Given the description of an element on the screen output the (x, y) to click on. 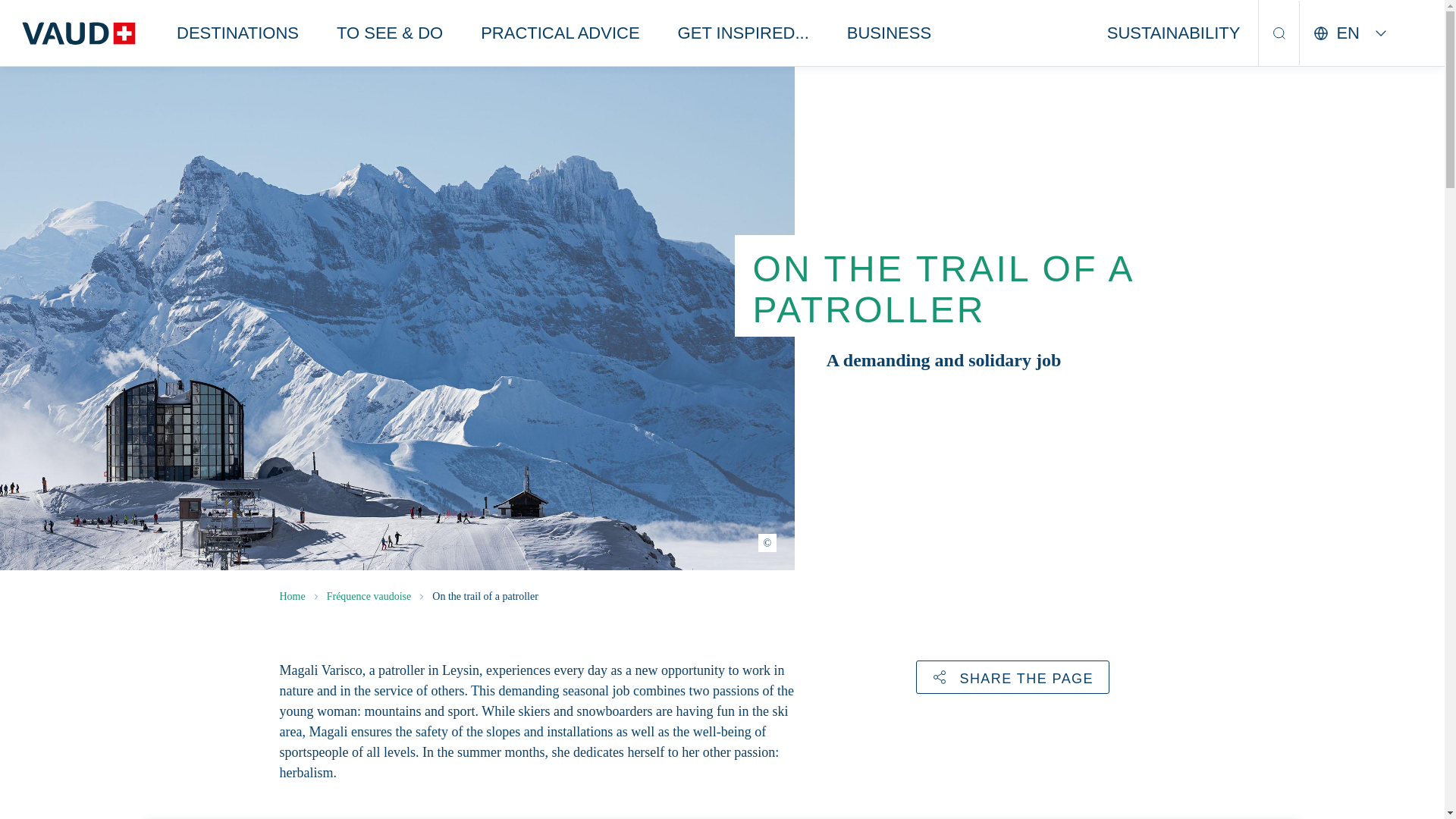
DESTINATIONS (237, 32)
